Given the description of an element on the screen output the (x, y) to click on. 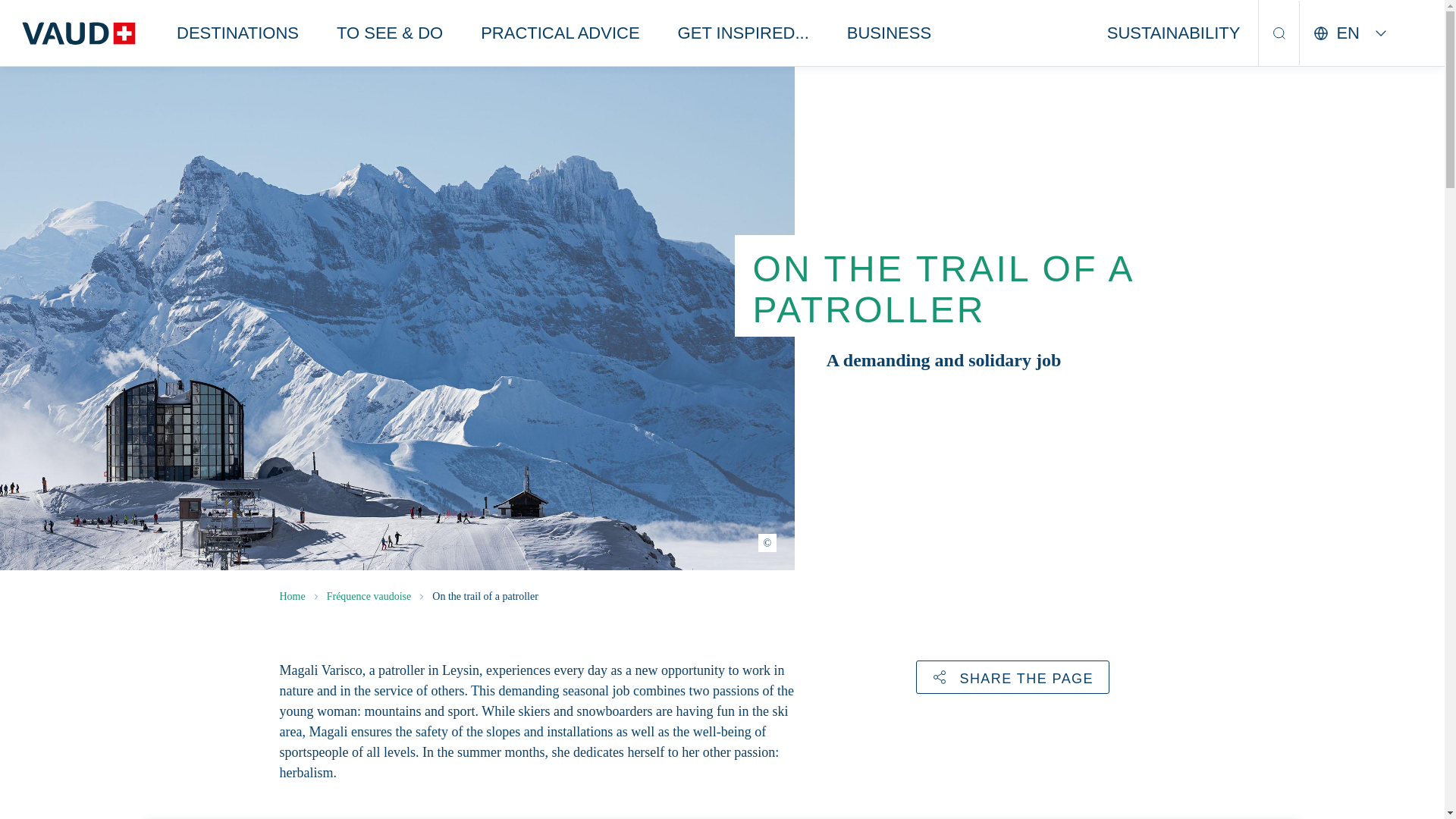
DESTINATIONS (237, 32)
